Given the description of an element on the screen output the (x, y) to click on. 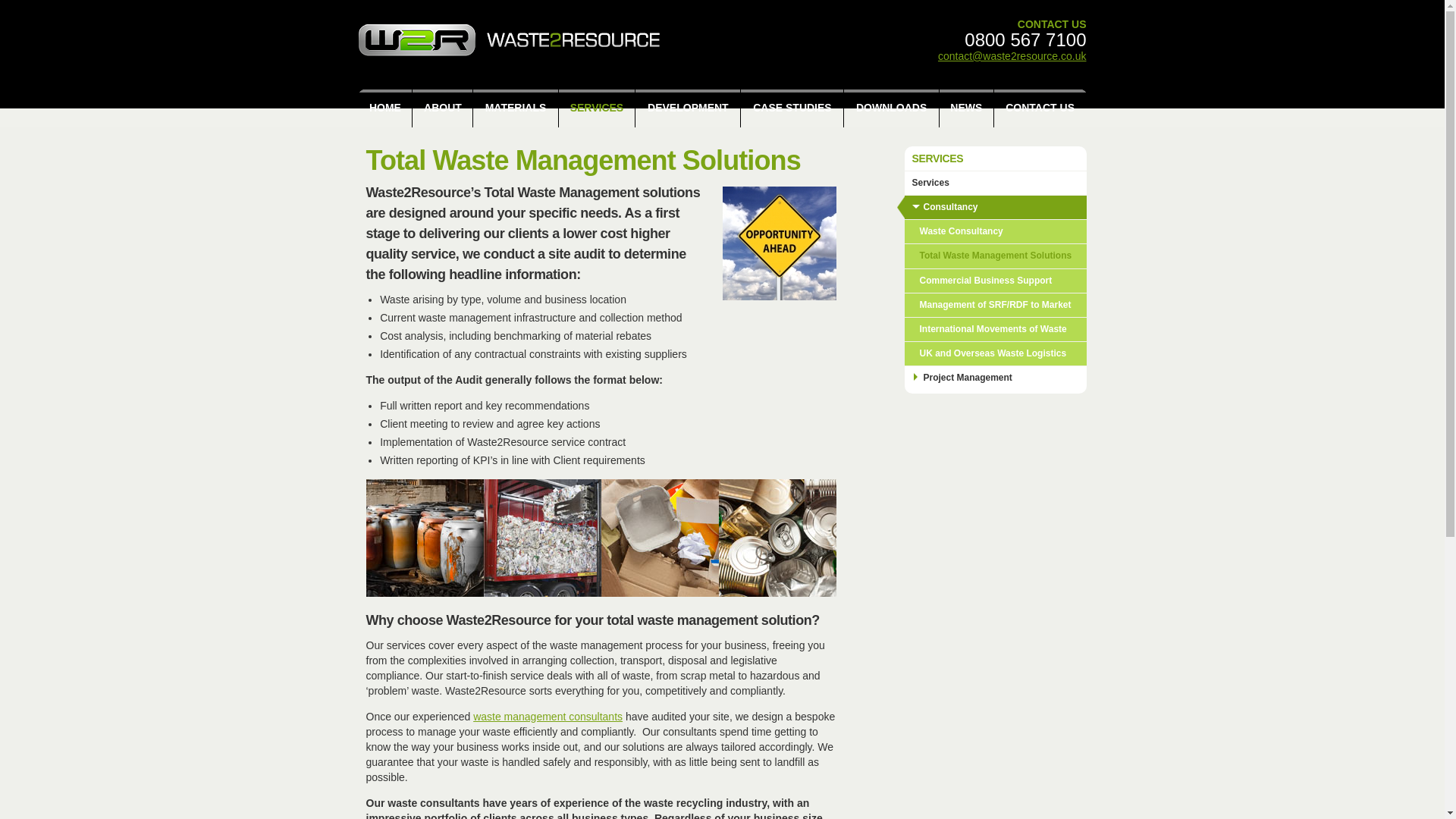
MATERIALS (515, 108)
Waste 2 Resource (513, 44)
DOWNLOADS (890, 108)
SERVICES (596, 108)
DEVELOPMENT (686, 108)
ABOUT (441, 108)
HOME (385, 108)
CASE STUDIES (792, 108)
